Given the description of an element on the screen output the (x, y) to click on. 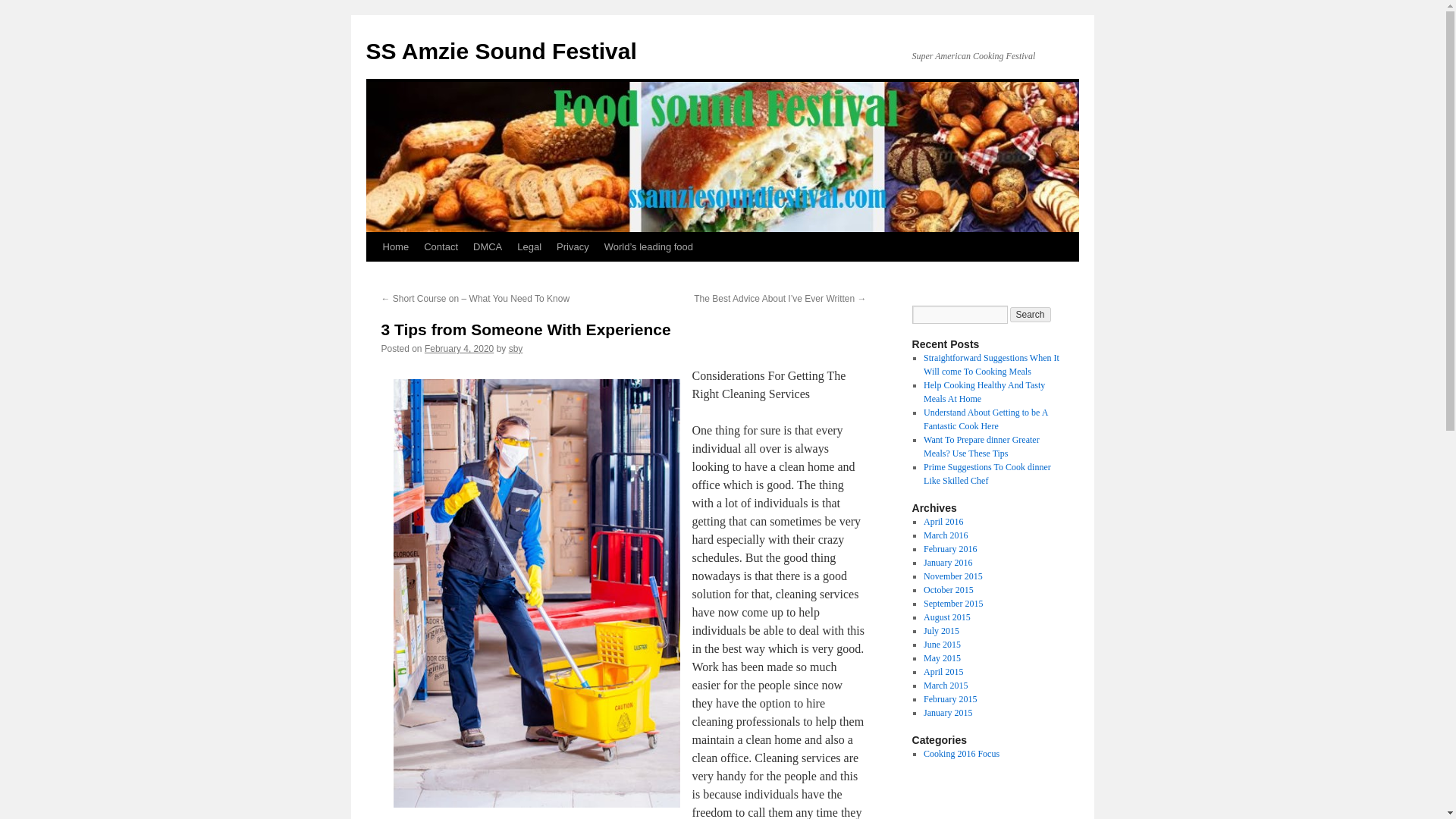
Prime Suggestions To Cook dinner Like Skilled Chef (987, 473)
July 2015 (941, 630)
June 2015 (941, 644)
sby (515, 348)
Help Cooking Healthy And Tasty Meals At Home (984, 392)
February 4, 2020 (459, 348)
April 2015 (942, 671)
Legal (528, 246)
August 2015 (947, 616)
10:34 pm (459, 348)
SS Amzie Sound Festival (500, 50)
Search (1030, 314)
October 2015 (948, 589)
February 2016 (949, 548)
